Given the description of an element on the screen output the (x, y) to click on. 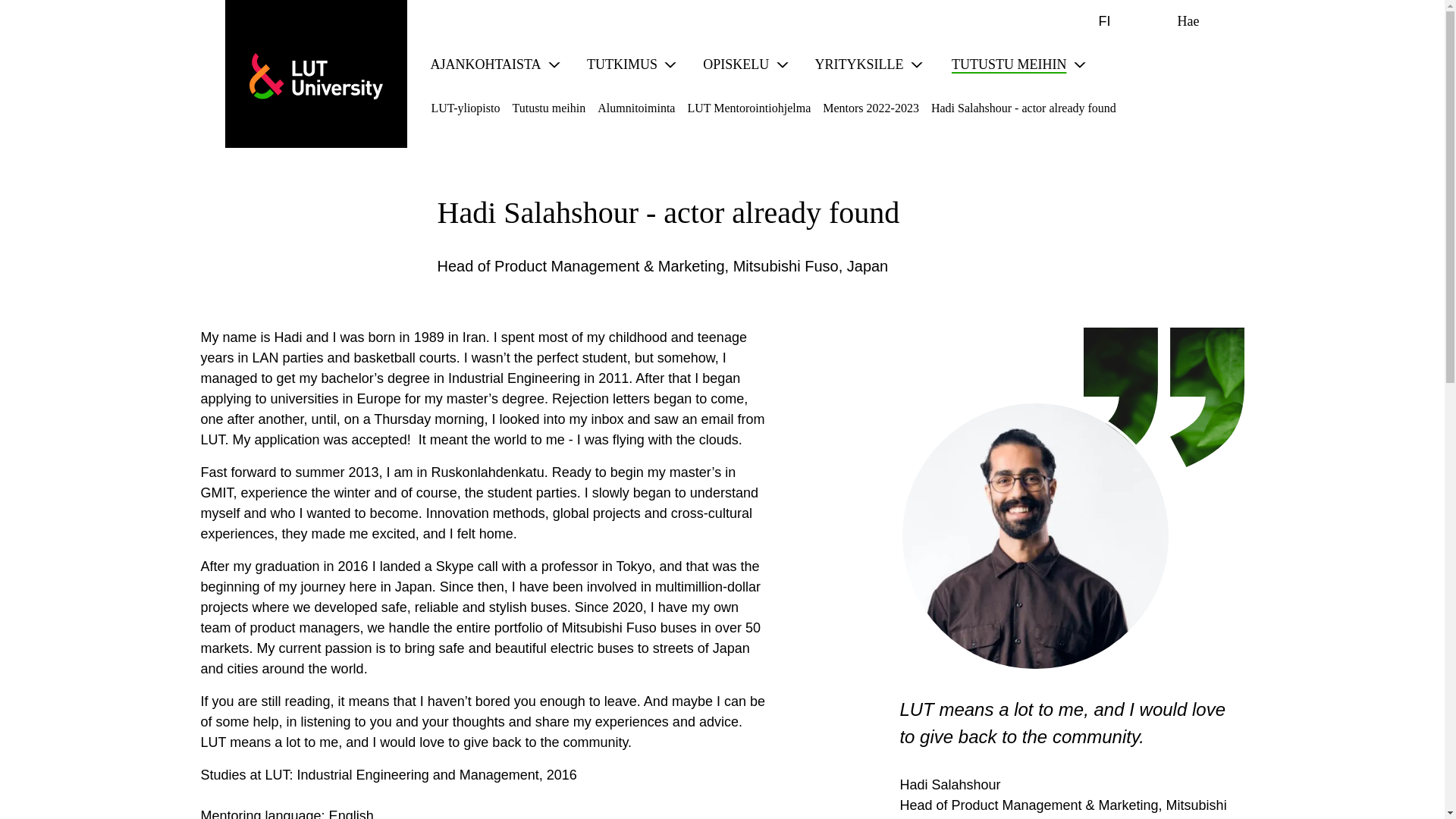
Etusivu (314, 76)
LUT-yliopisto (314, 76)
Tutkimus (618, 64)
Tietoa LUT-yliopistosta (1004, 64)
AJANKOHTAISTA (481, 64)
Uutiset ja tapahtumat (481, 64)
Hae (1176, 21)
Avaa seuraava valikkotaso (670, 65)
TUTKIMUS (618, 64)
Avaa seuraava valikkotaso (553, 65)
